Given the description of an element on the screen output the (x, y) to click on. 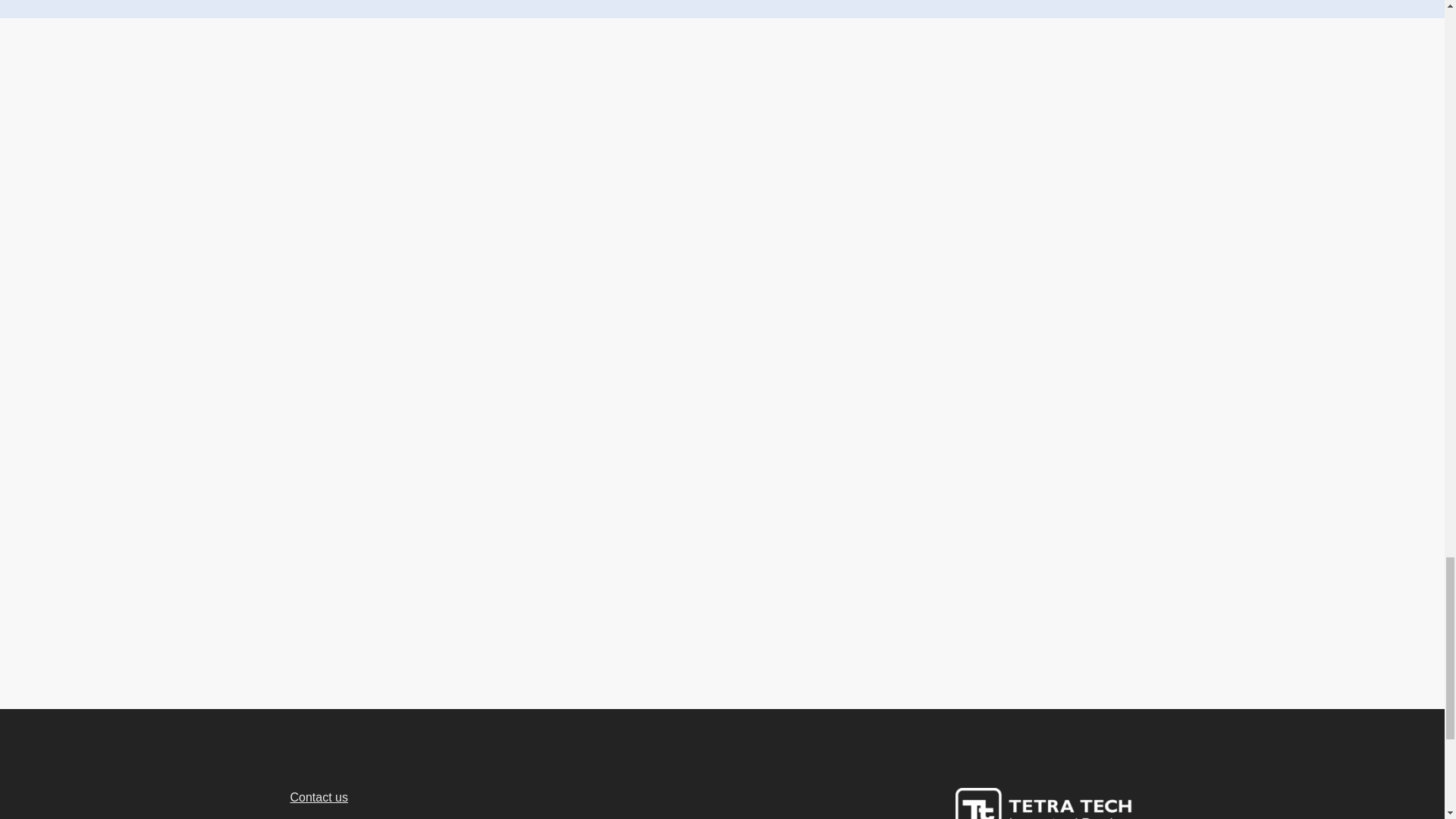
Contact us (318, 797)
